Given the description of an element on the screen output the (x, y) to click on. 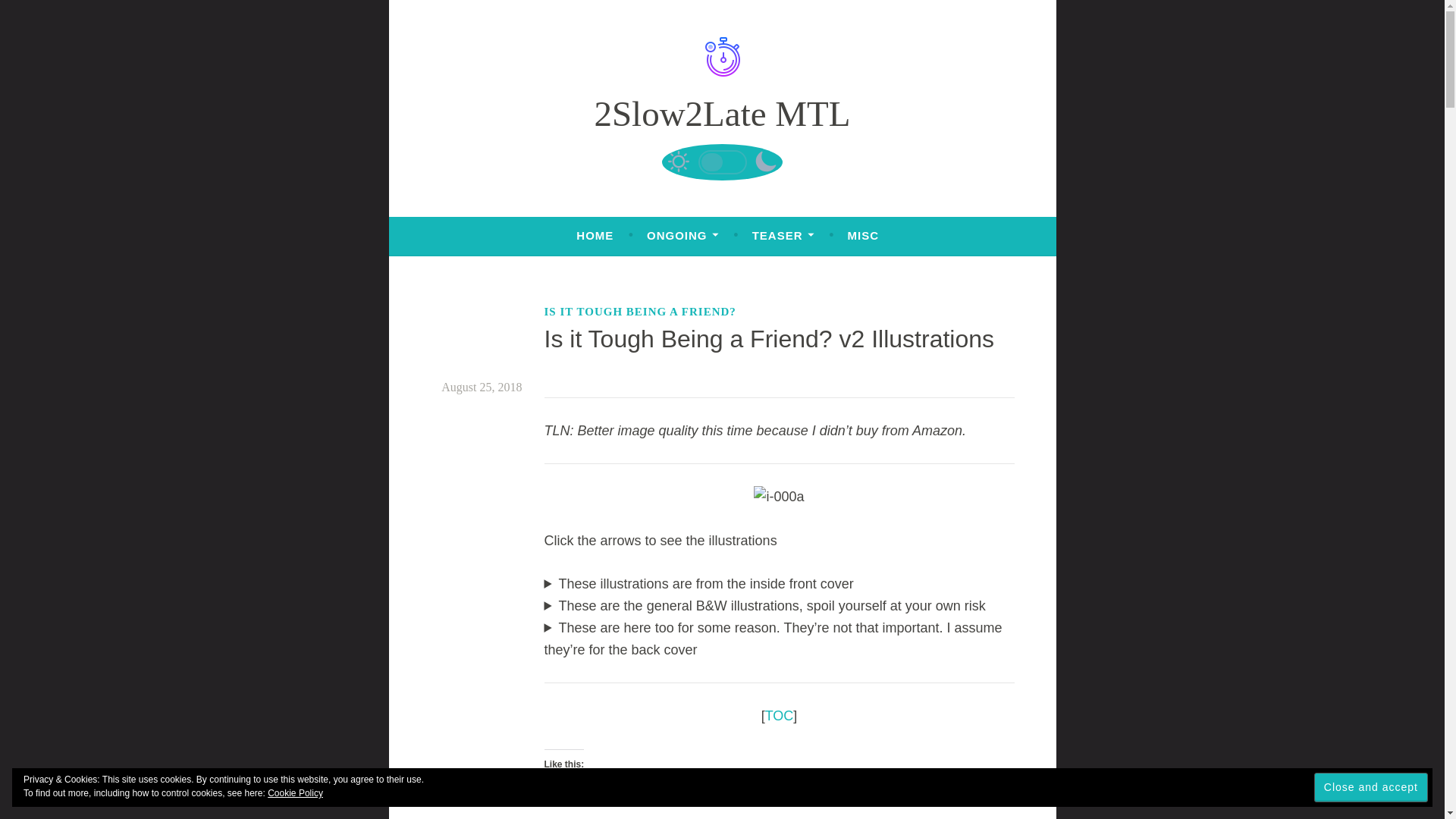
Close and accept (1371, 787)
MISC (863, 235)
TOC (779, 715)
2Slow2Late MTL (722, 113)
IS IT TOUGH BEING A FRIEND? (640, 311)
TEASER (782, 235)
August 25, 2018 (481, 386)
HOME (594, 235)
ONGOING (682, 235)
